Given the description of an element on the screen output the (x, y) to click on. 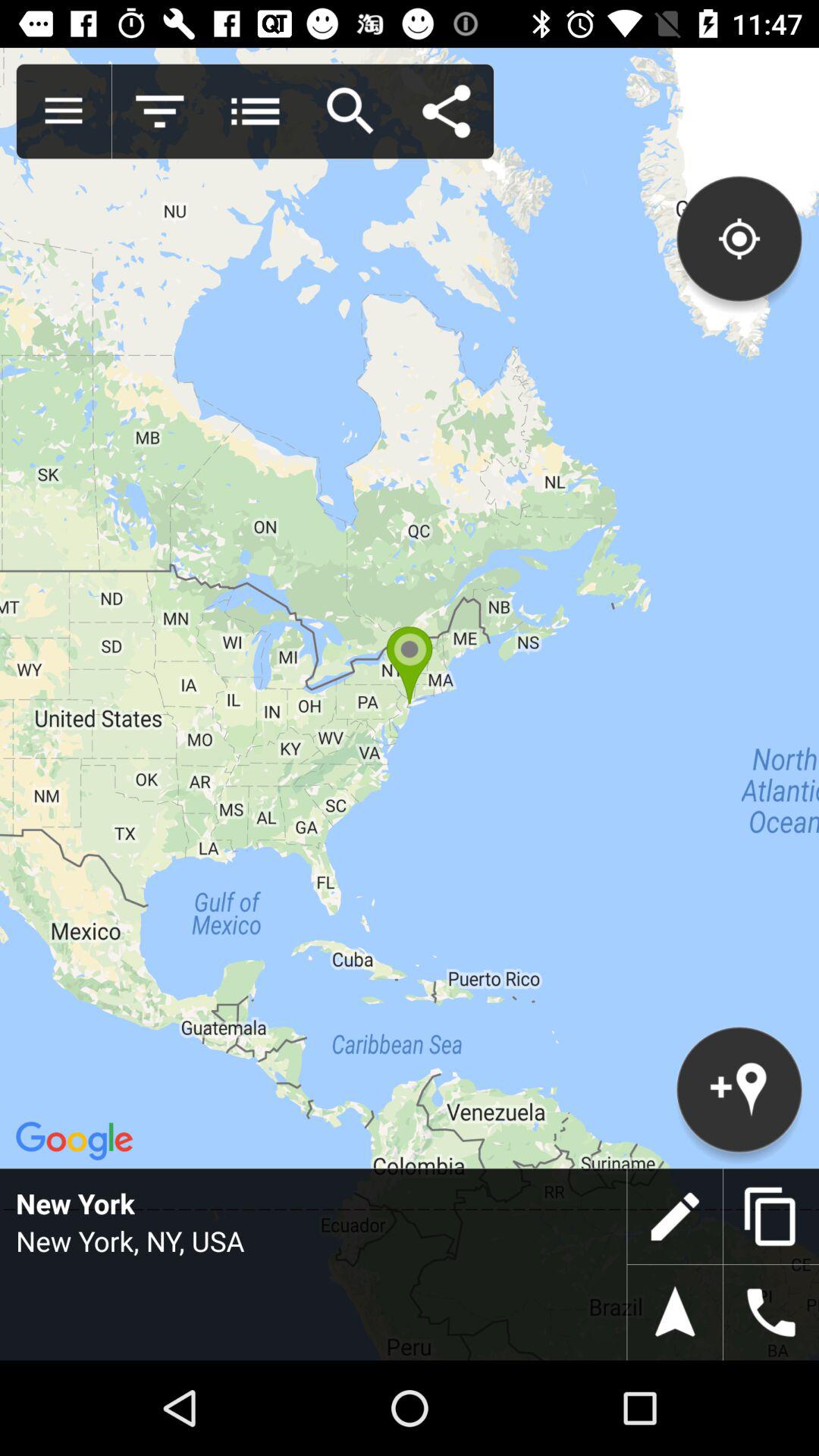
get directions (674, 1312)
